Given the description of an element on the screen output the (x, y) to click on. 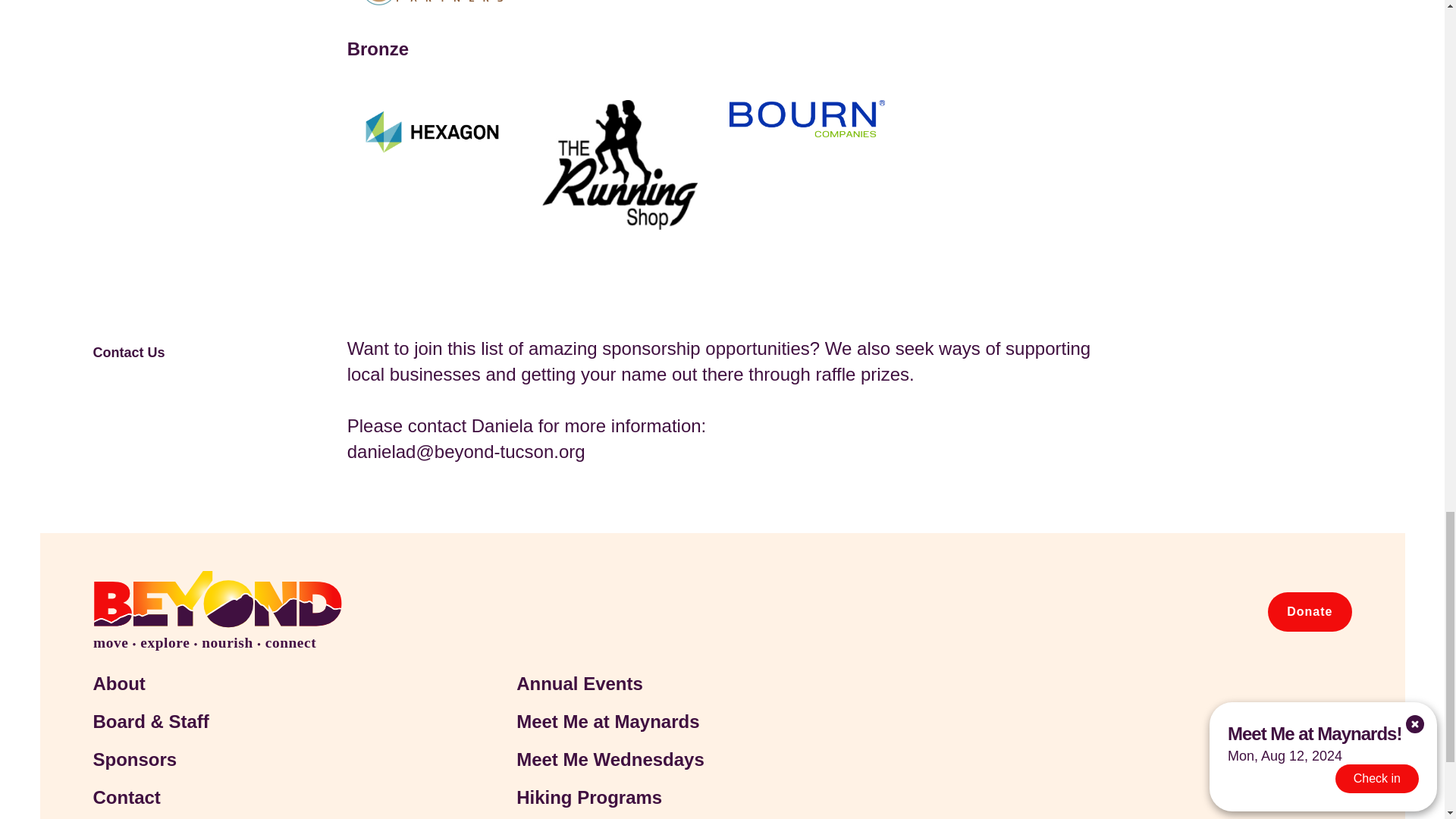
Hiking Programs (680, 797)
Meet Me Wednesdays (680, 759)
Annual Events (680, 683)
Donate (1309, 611)
Contact (257, 797)
Meet Me at Maynards (680, 721)
Sponsors (257, 759)
About (257, 683)
